Given the description of an element on the screen output the (x, y) to click on. 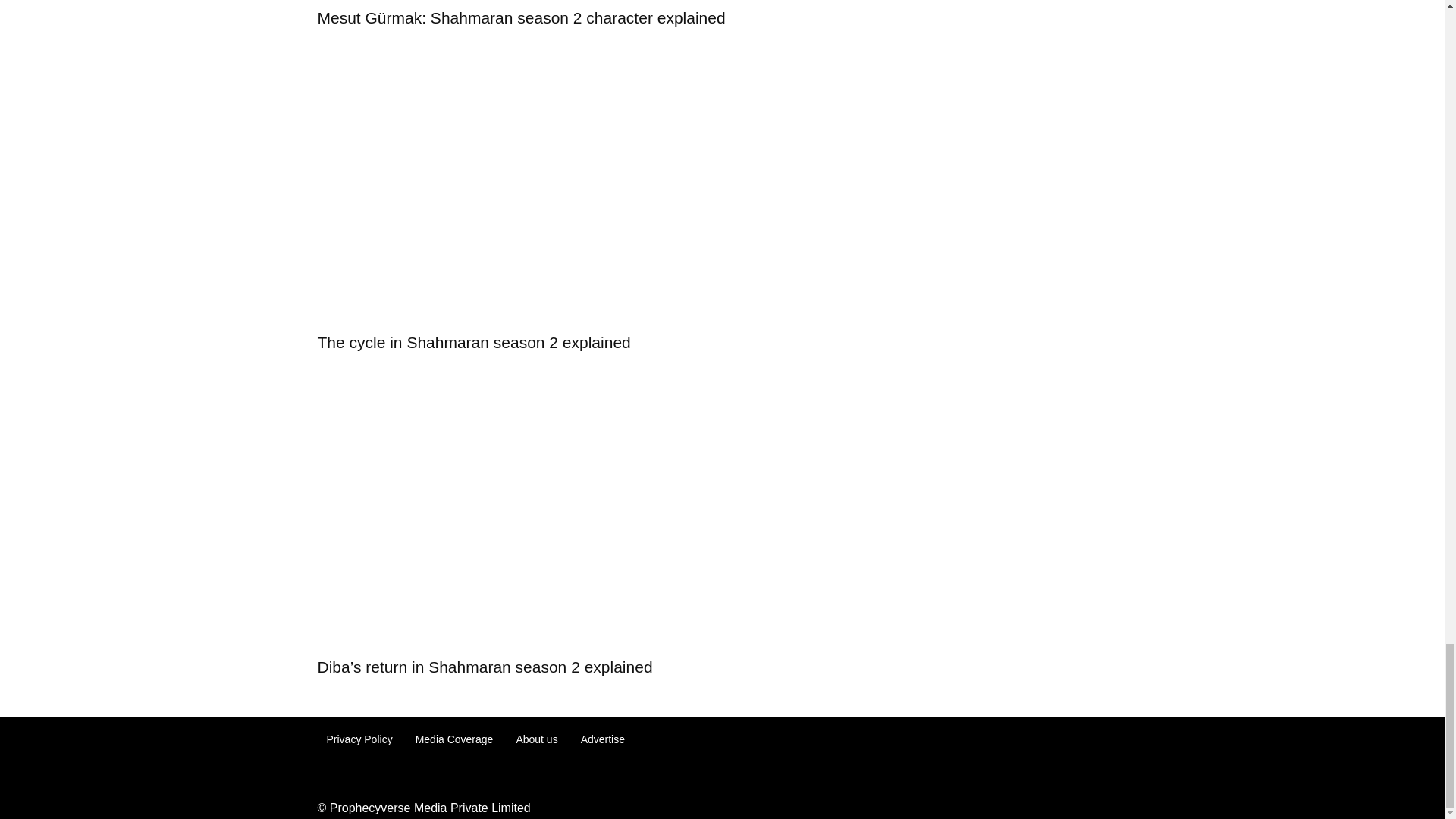
The cycle in Shahmaran season 2 explained (473, 342)
About us (536, 739)
Media Coverage (453, 739)
Privacy Policy (358, 739)
